Given the description of an element on the screen output the (x, y) to click on. 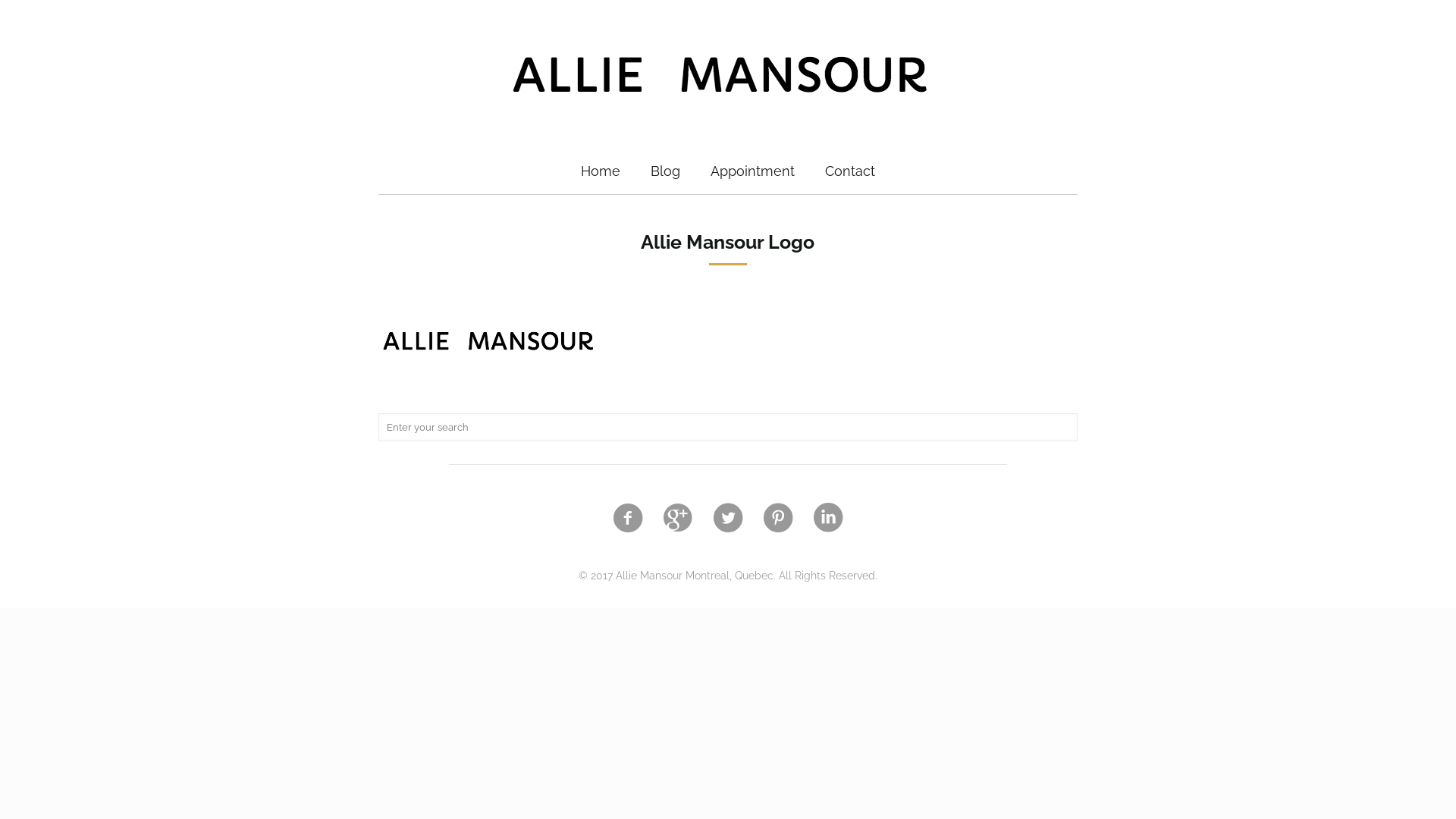
Blog Element type: text (665, 171)
Contact Element type: text (849, 171)
Appointment Element type: text (752, 171)
Home Element type: text (600, 171)
